Given the description of an element on the screen output the (x, y) to click on. 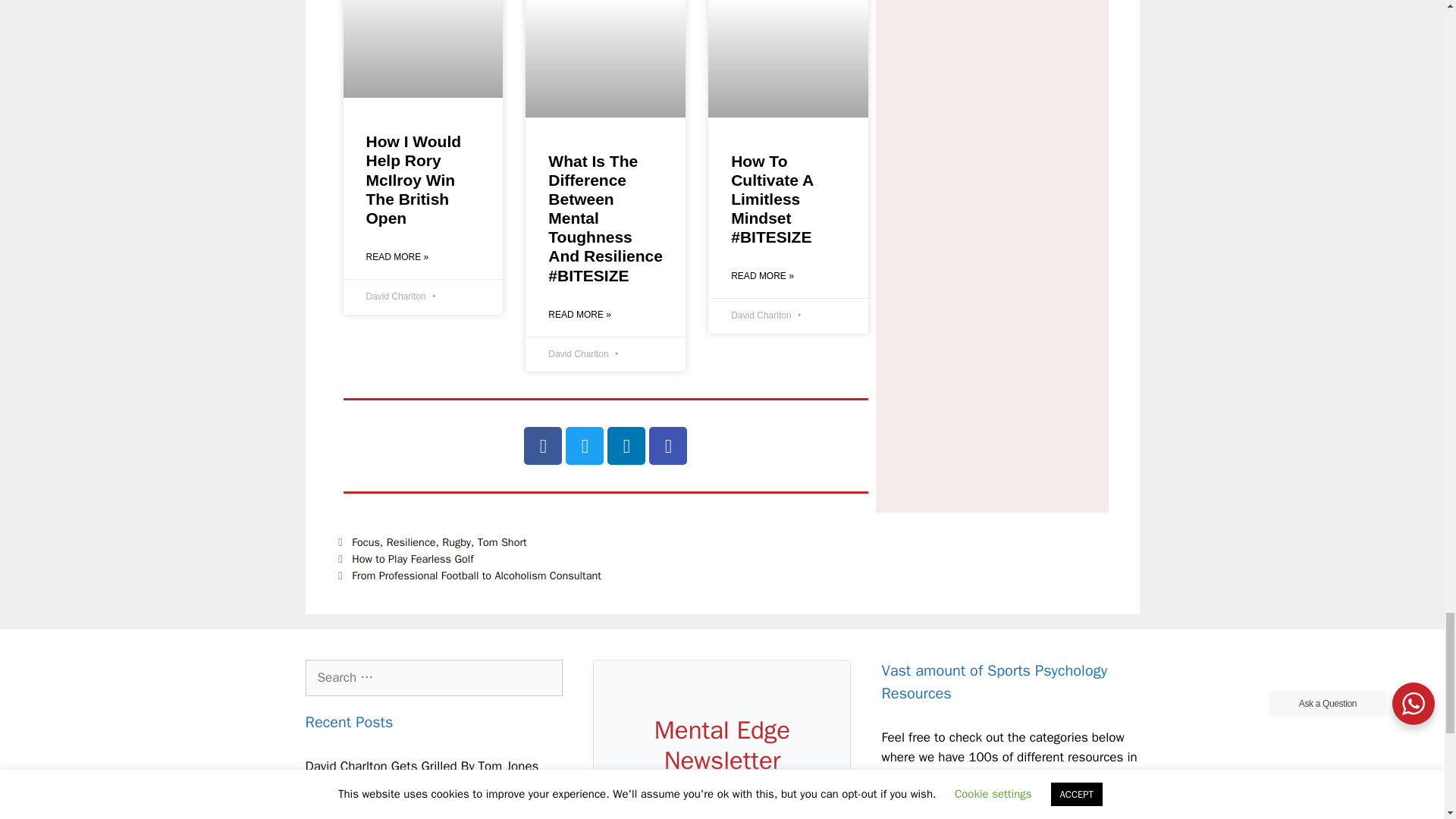
Search for: (433, 678)
